Given the description of an element on the screen output the (x, y) to click on. 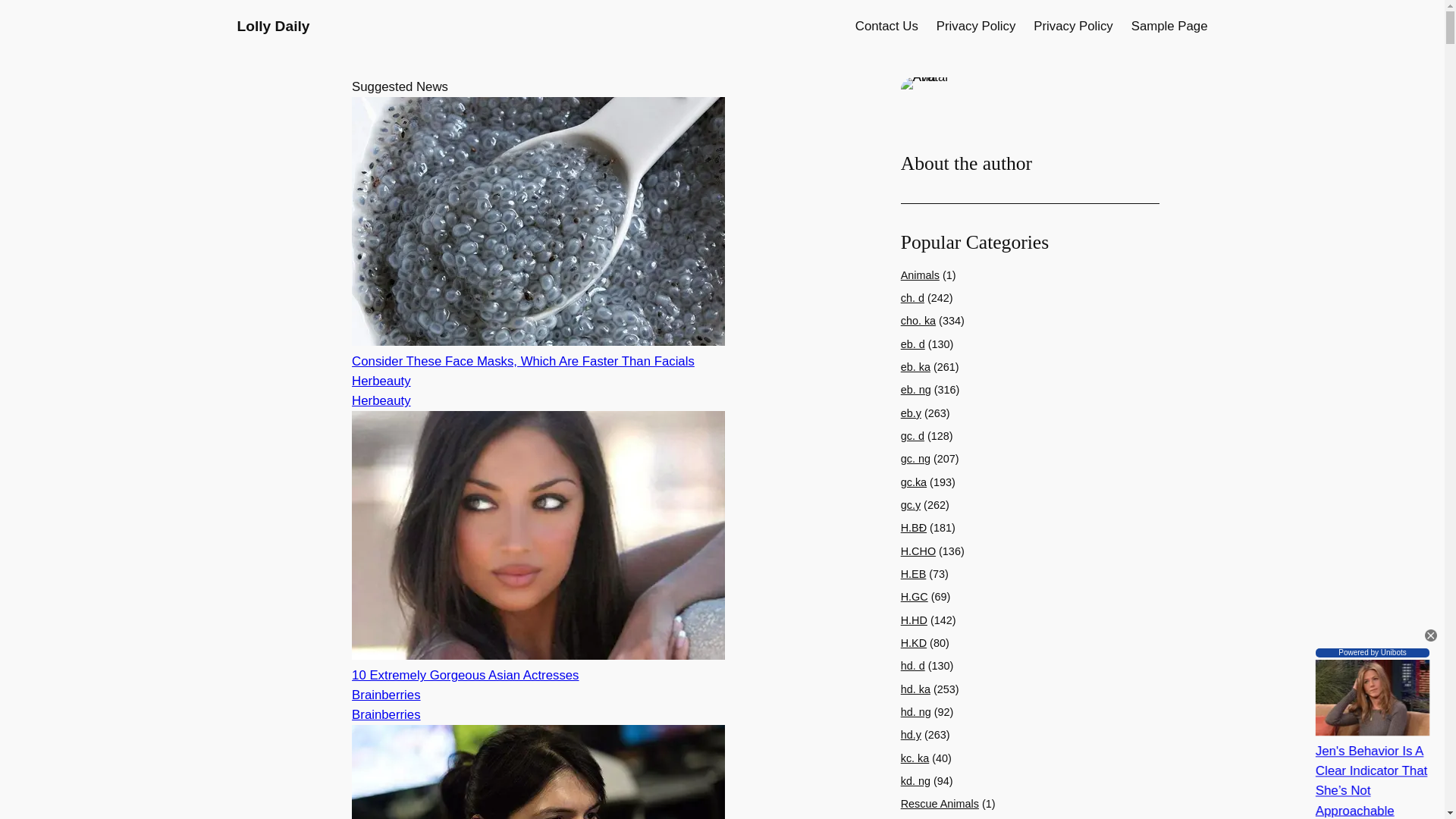
Contact Us (887, 26)
kc. ka (915, 758)
hd.y (911, 734)
eb.y (911, 413)
Rescue Animals (939, 803)
gc.y (910, 504)
hd. ng (916, 711)
gc.ka (913, 481)
kd. ng (915, 780)
H.GC (914, 596)
Sample Page (1169, 26)
eb. ka (915, 367)
eb. ng (916, 389)
hd. d (912, 665)
Privacy Policy (975, 26)
